Given the description of an element on the screen output the (x, y) to click on. 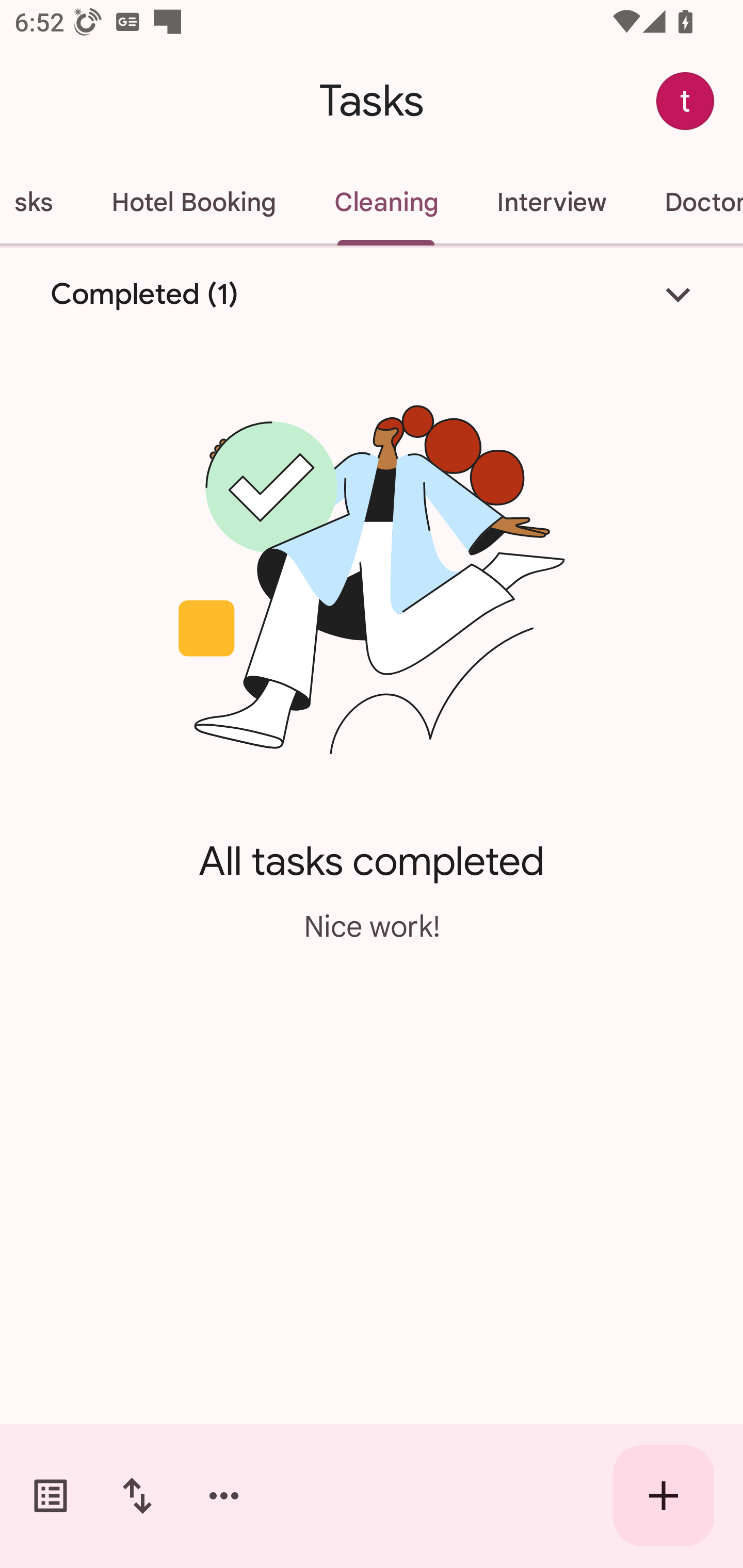
Hotel Booking (192, 202)
Interview (551, 202)
Doctor Appointment (689, 202)
Completed (1) (371, 294)
Switch task lists (50, 1495)
Create new task (663, 1495)
Change sort order (136, 1495)
More options (223, 1495)
